Given the description of an element on the screen output the (x, y) to click on. 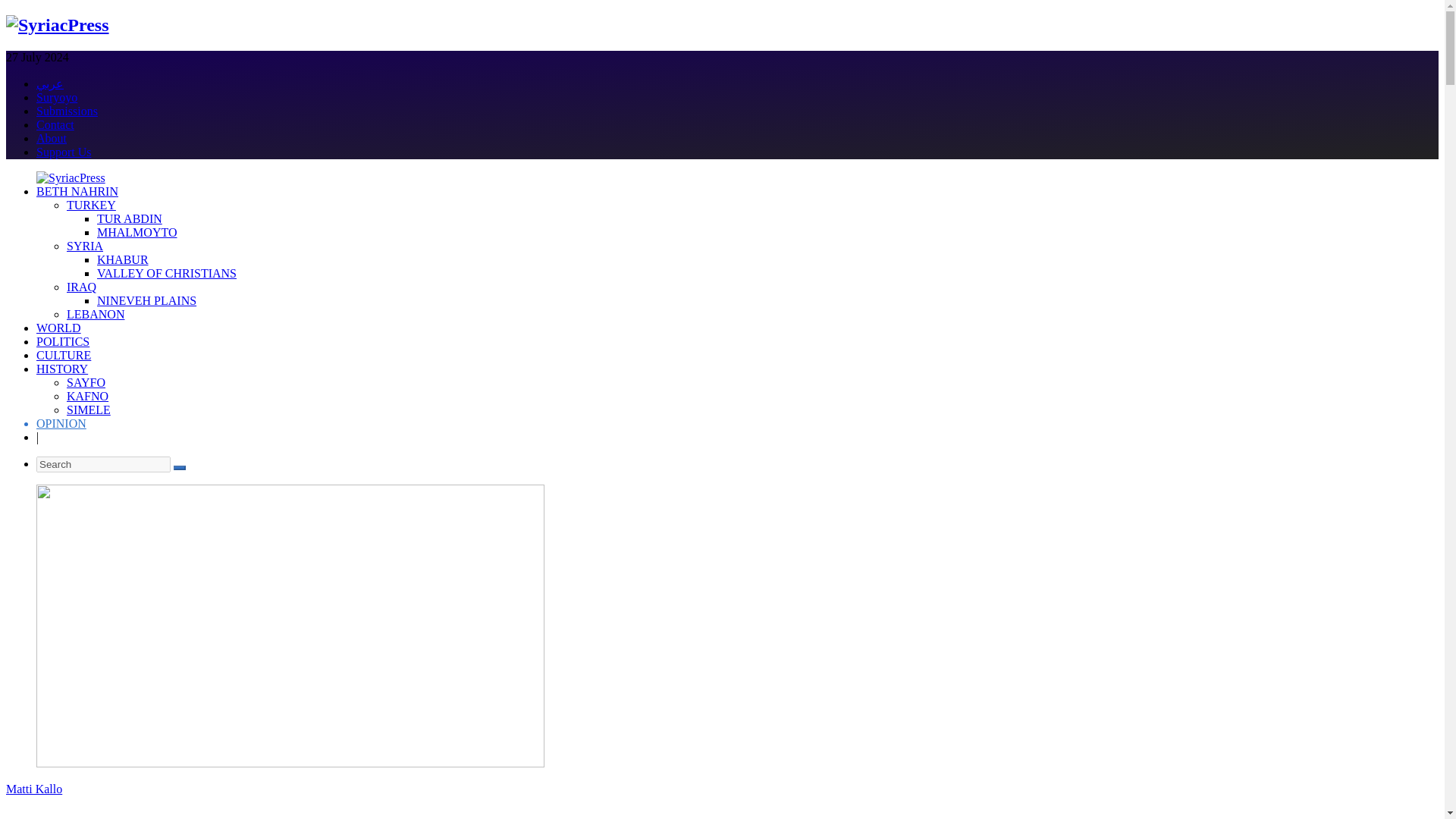
LEBANON (94, 314)
POLITICS (62, 341)
SyriacPress (57, 25)
WORLD (58, 327)
About (51, 137)
Submissions (66, 110)
Search (103, 464)
BETH NAHRIN (76, 191)
MHALMOYTO (136, 232)
Support Us (63, 151)
SAYFO (85, 382)
VALLEY OF CHRISTIANS (166, 273)
NINEVEH PLAINS (146, 300)
SYRIA (84, 245)
Suryoyo (56, 97)
